Given the description of an element on the screen output the (x, y) to click on. 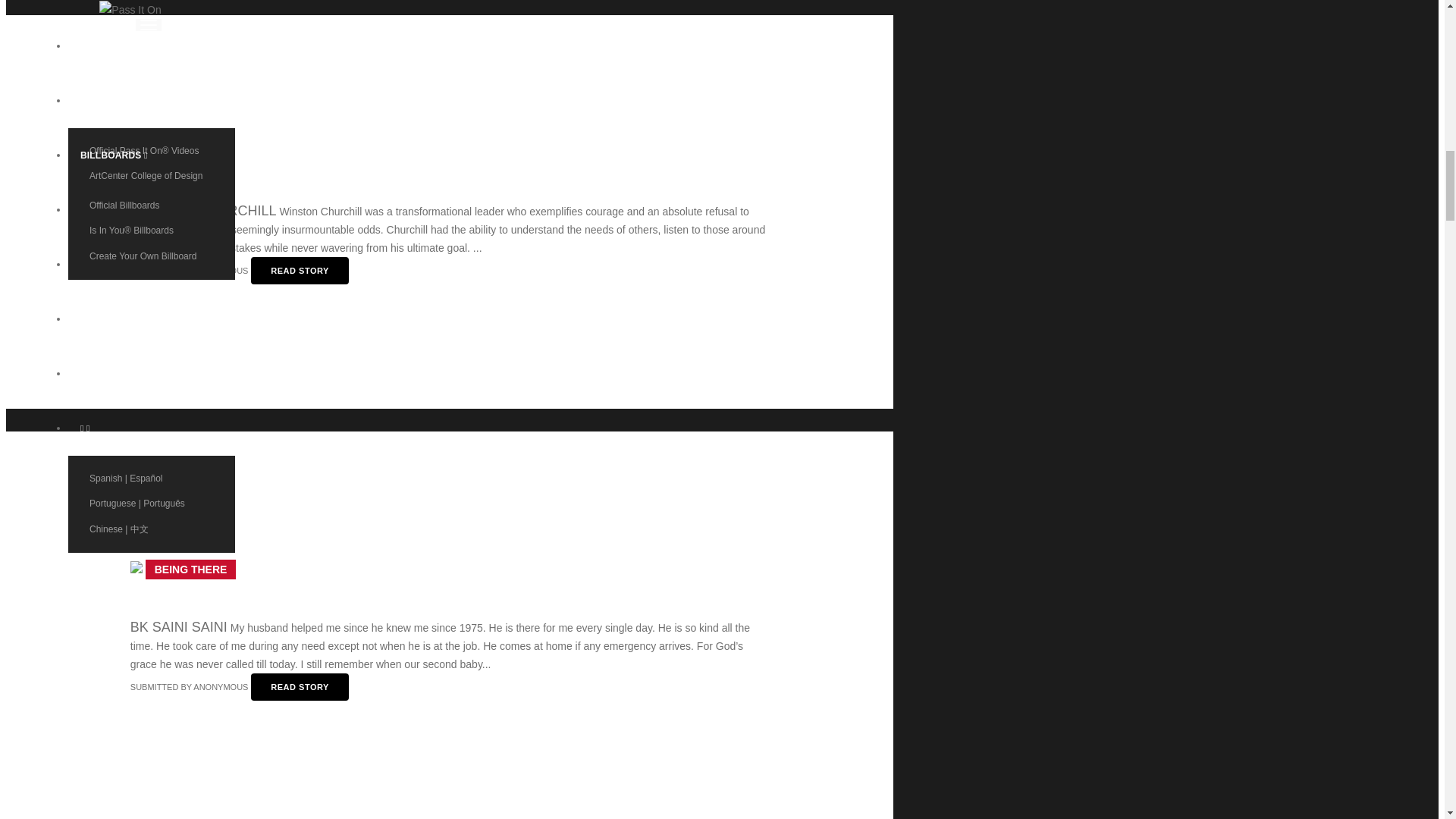
READ STORY (299, 687)
BEING THERE (190, 568)
COURAGE (181, 152)
READ STORY (299, 270)
